Given the description of an element on the screen output the (x, y) to click on. 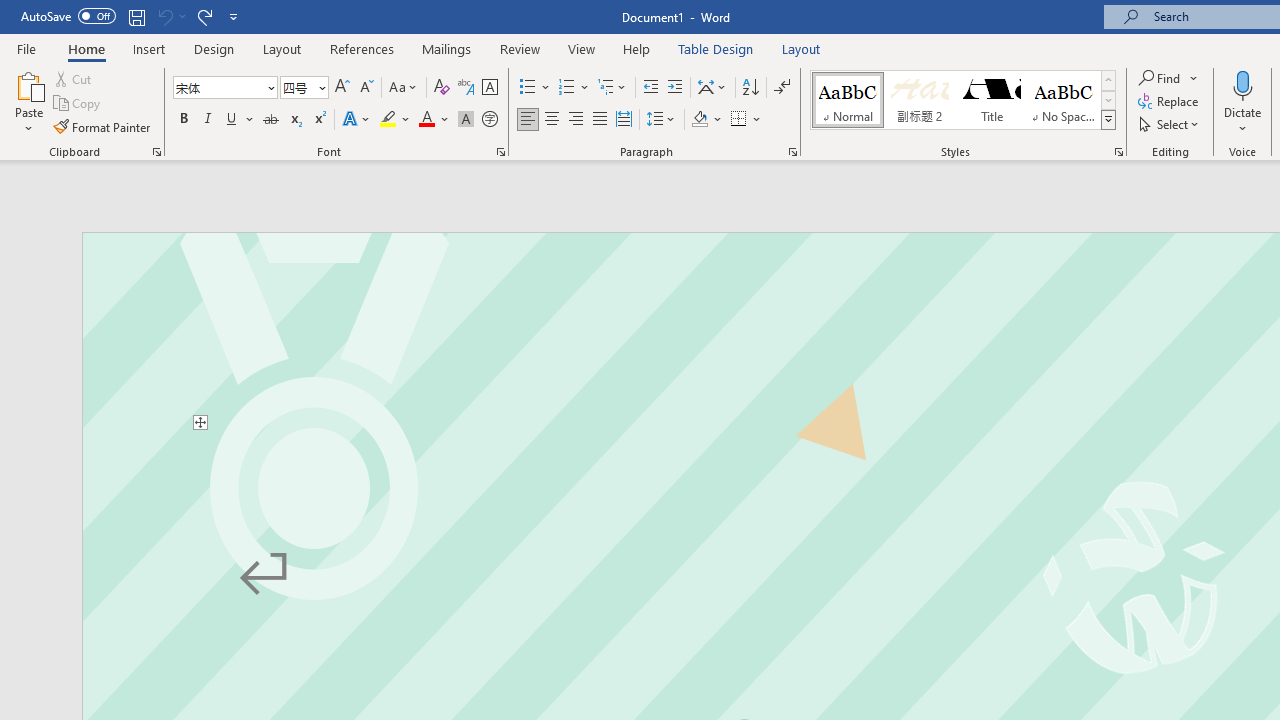
Align Right (575, 119)
Row up (1108, 79)
Enclose Characters... (489, 119)
Distributed (623, 119)
Show/Hide Editing Marks (781, 87)
Paragraph... (792, 151)
Format Painter (103, 126)
Dictate (1243, 102)
Increase Indent (675, 87)
Row Down (1108, 100)
System (10, 11)
Text Effects and Typography (357, 119)
Insert (149, 48)
Layout (801, 48)
